Given the description of an element on the screen output the (x, y) to click on. 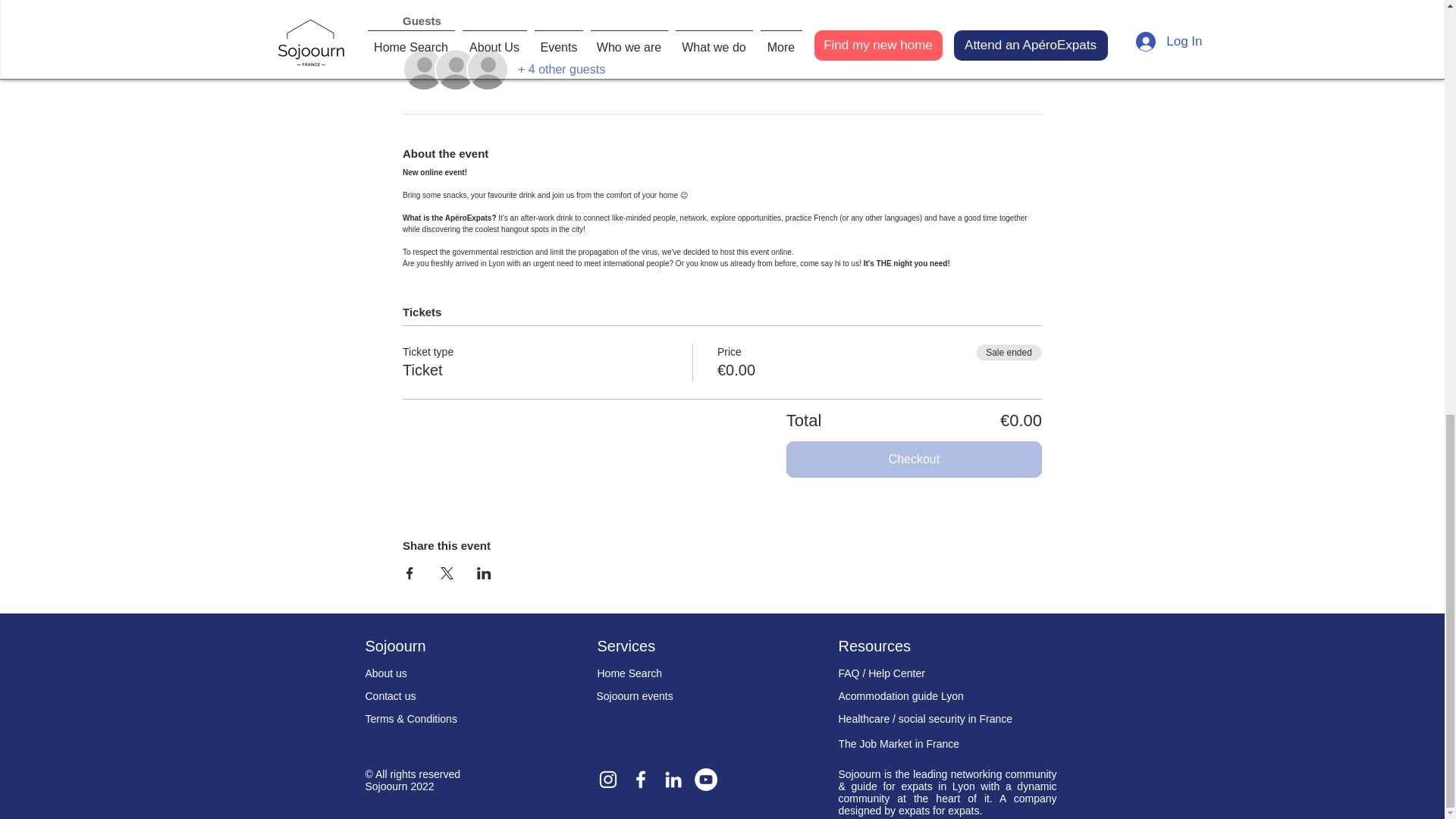
About us (386, 673)
Home Search (629, 673)
Sojoourn events (633, 695)
Contact us (390, 695)
Checkout (914, 459)
